Given the description of an element on the screen output the (x, y) to click on. 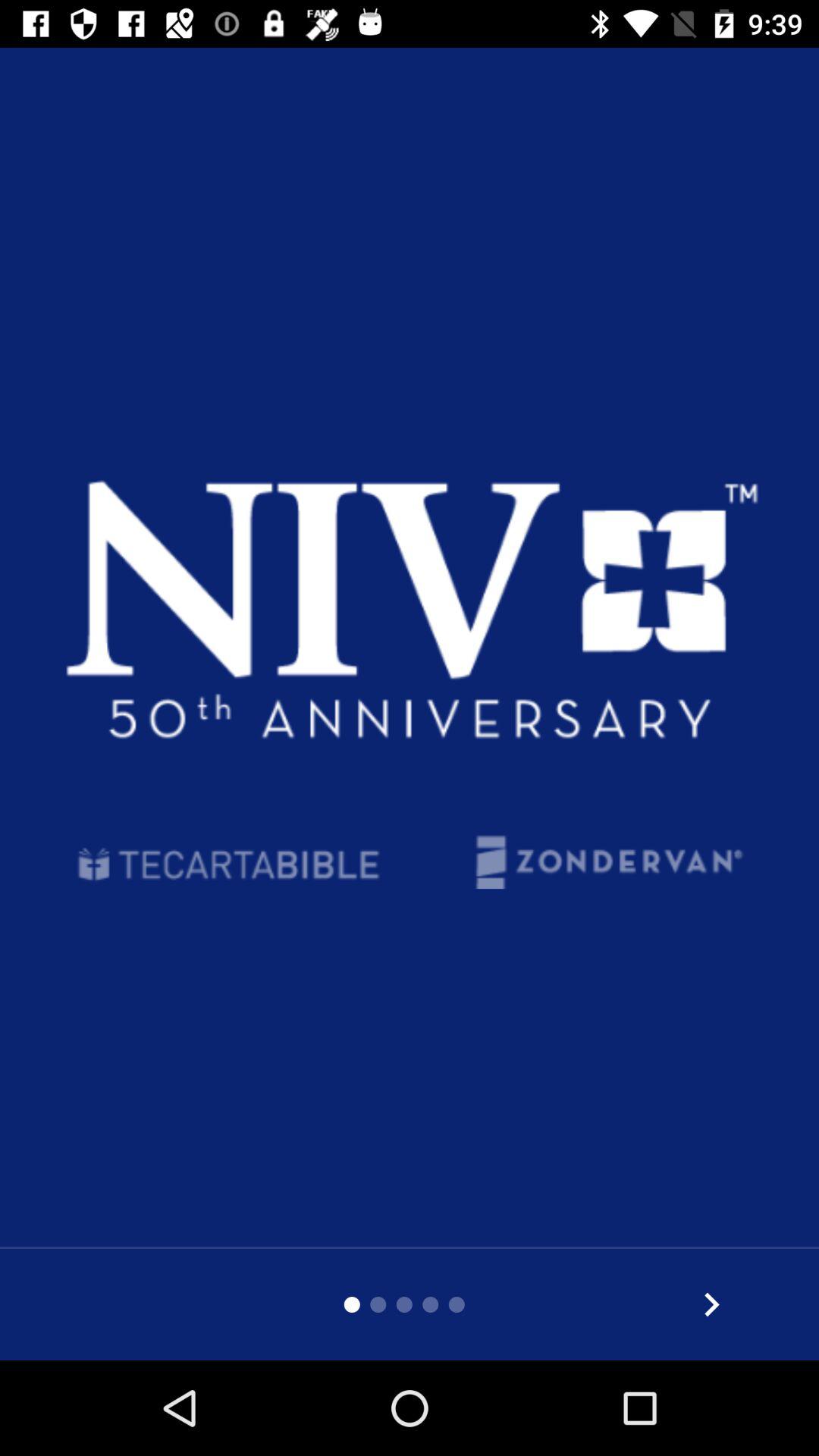
world s most read and most trusted modern english bible translation (711, 1304)
